Given the description of an element on the screen output the (x, y) to click on. 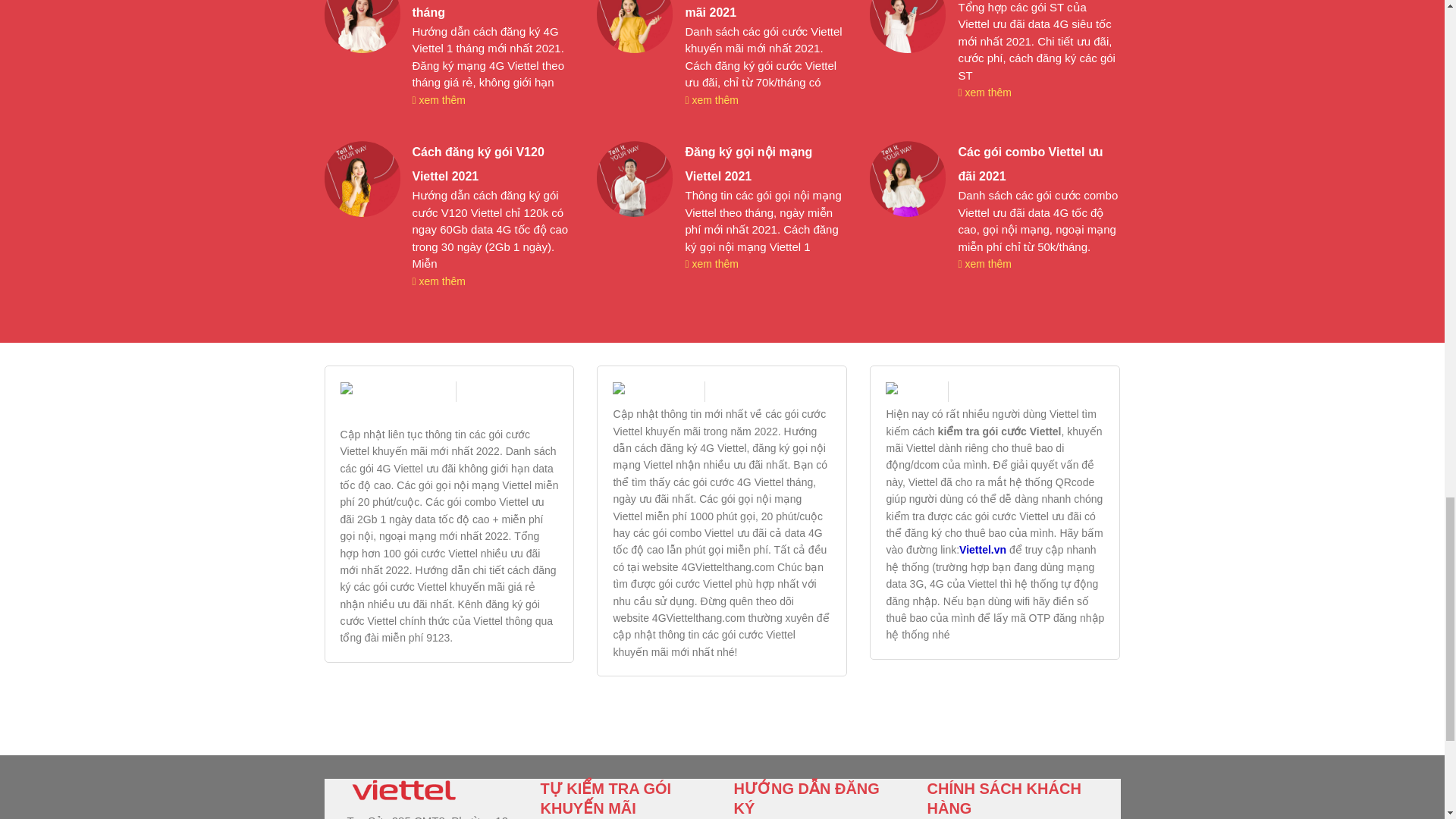
Viettel.vn (982, 549)
